Given the description of an element on the screen output the (x, y) to click on. 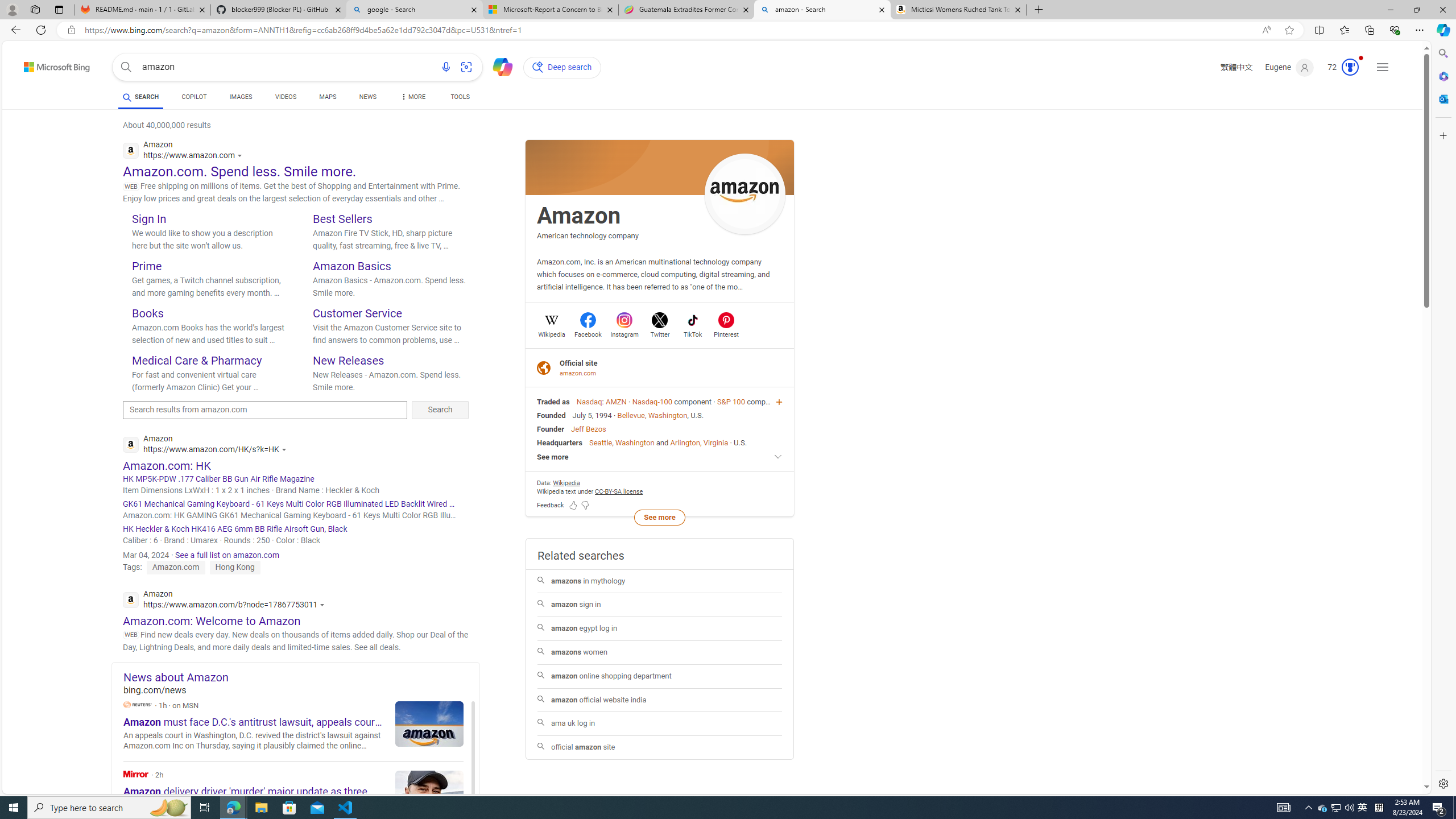
Search using an image (465, 66)
See a full list on amazon.com (226, 555)
AutomationID: serp_medal_svg (1349, 67)
Instagram (624, 333)
Feedback Dislike (584, 504)
Eugene (1289, 67)
Traded as (553, 401)
Founder (550, 429)
official amazon site (659, 747)
